Given the description of an element on the screen output the (x, y) to click on. 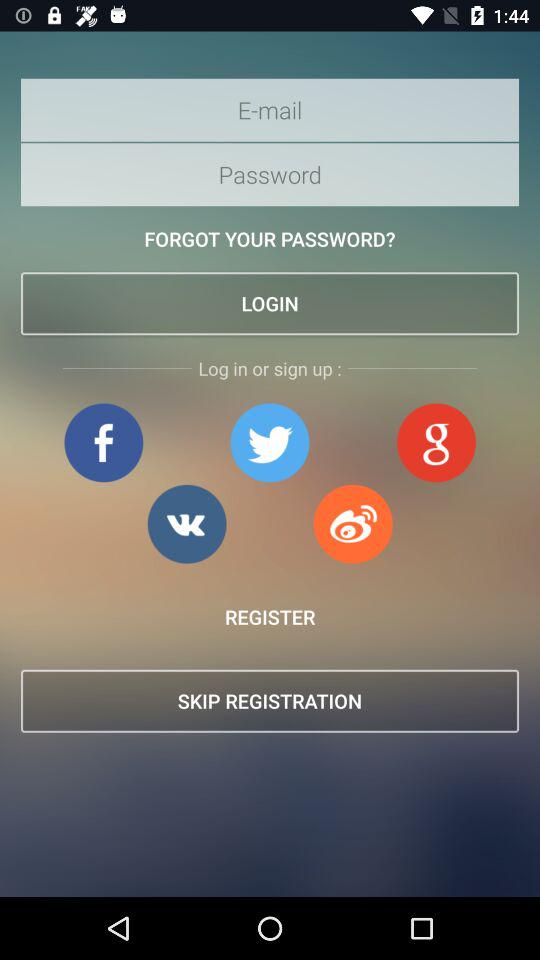
login with facebook (103, 442)
